Given the description of an element on the screen output the (x, y) to click on. 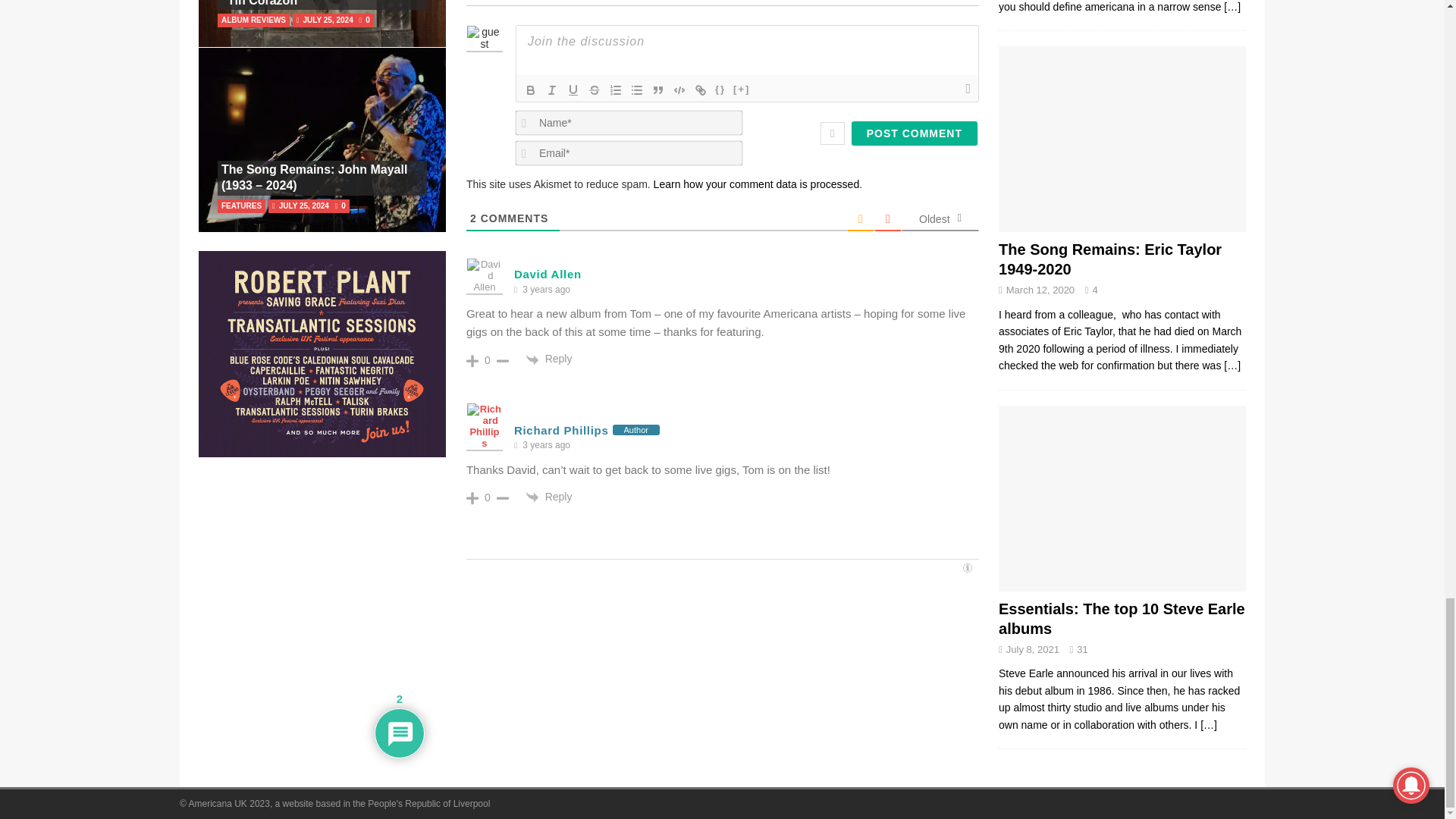
Post Comment (913, 133)
